Given the description of an element on the screen output the (x, y) to click on. 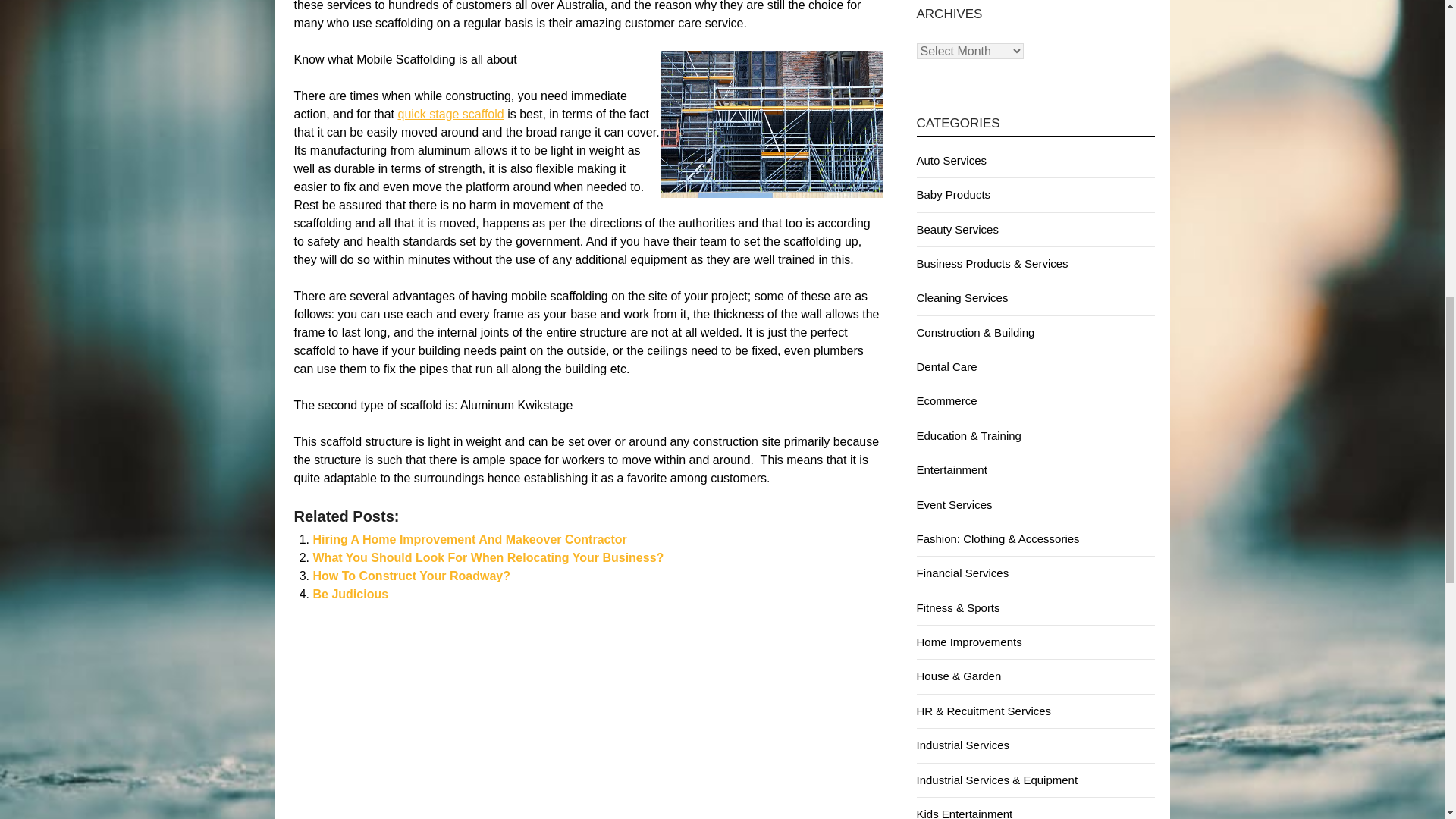
Home Improvements (968, 641)
Industrial Services (962, 744)
Baby Products (952, 194)
Hiring A Home Improvement And Makeover Contractor (469, 539)
Hiring A Home Improvement And Makeover Contractor (469, 539)
Entertainment (951, 469)
Kids Entertainment (963, 813)
Auto Services (951, 160)
Cleaning Services (961, 297)
Financial Services (962, 572)
